Given the description of an element on the screen output the (x, y) to click on. 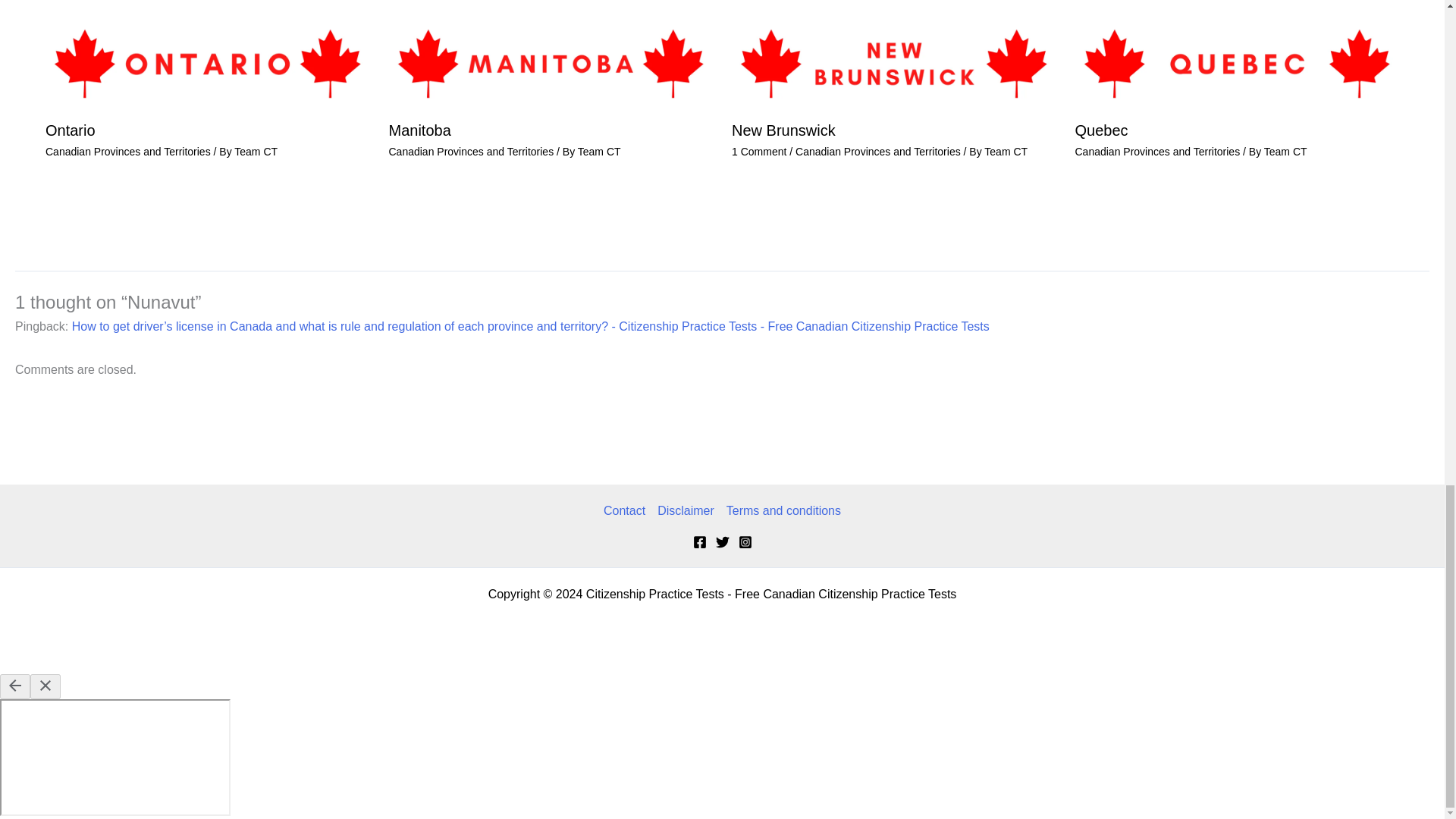
New Brunswick (783, 130)
View all posts by Team CT (599, 151)
Canadian Provinces and Territories (470, 151)
Team CT (599, 151)
Ontario (70, 130)
View all posts by Team CT (256, 151)
View all posts by Team CT (1005, 151)
Canadian Provinces and Territories (128, 151)
Manitoba (418, 130)
1 Comment (759, 151)
View all posts by Team CT (1285, 151)
Team CT (256, 151)
